Given the description of an element on the screen output the (x, y) to click on. 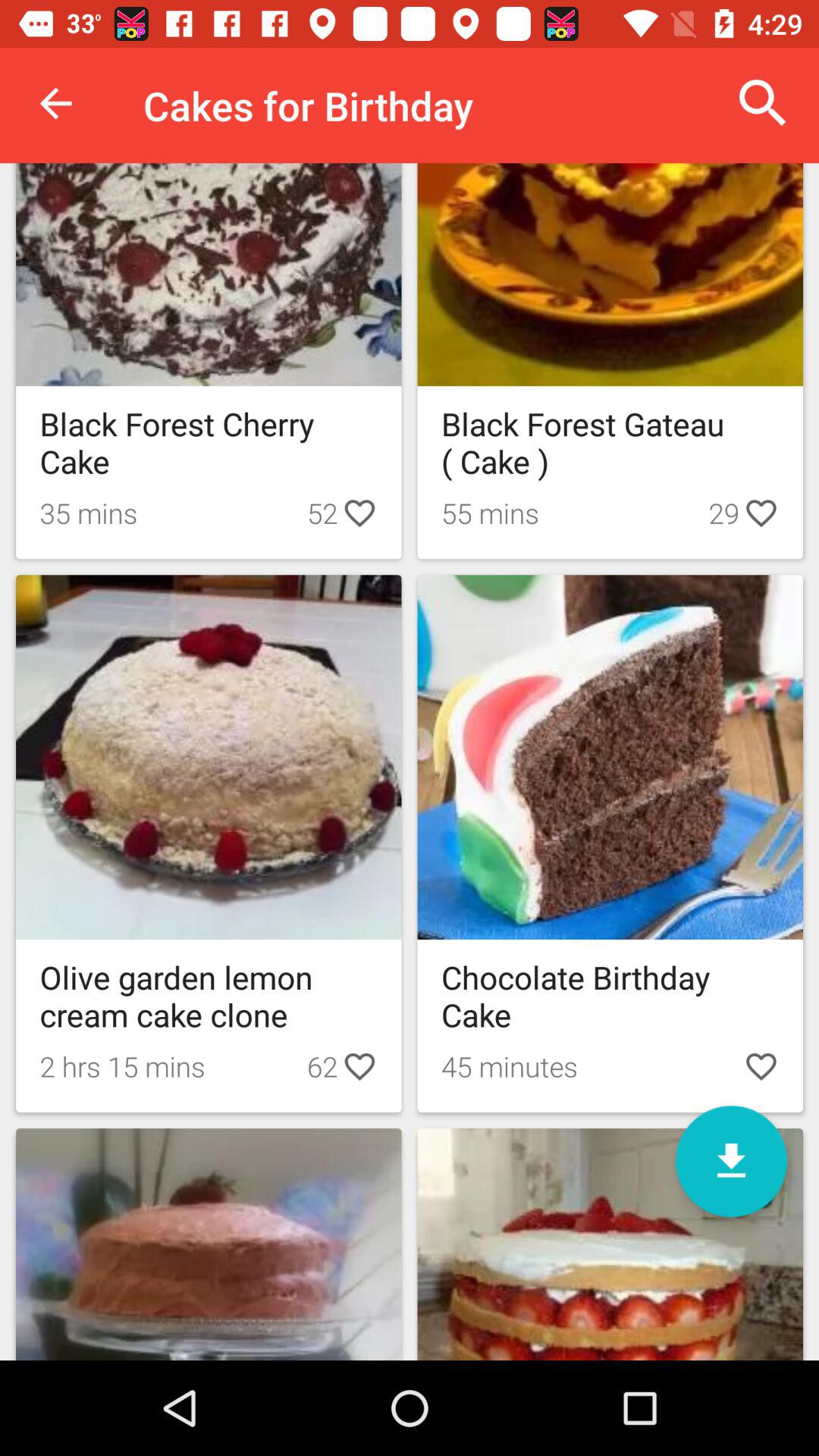
turn on the icon to the right of cakes for birthday icon (763, 103)
